Given the description of an element on the screen output the (x, y) to click on. 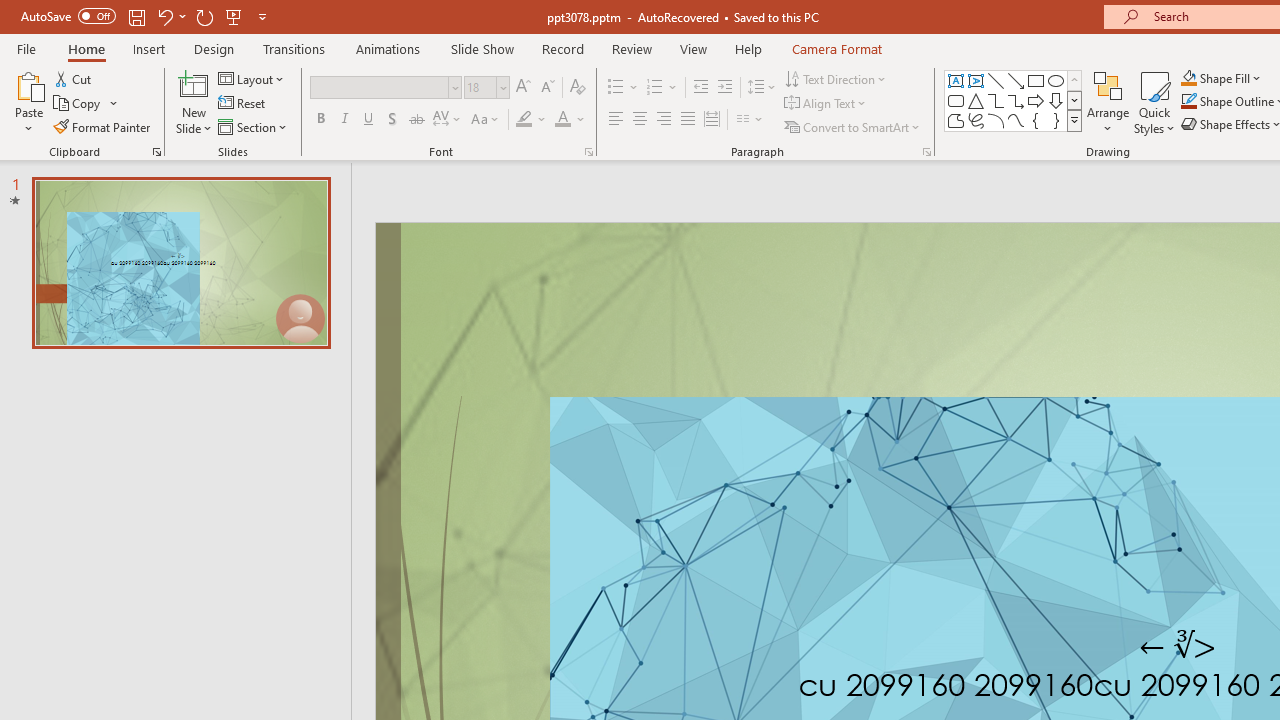
Camera Format (836, 48)
TextBox 7 (1178, 646)
